Given the description of an element on the screen output the (x, y) to click on. 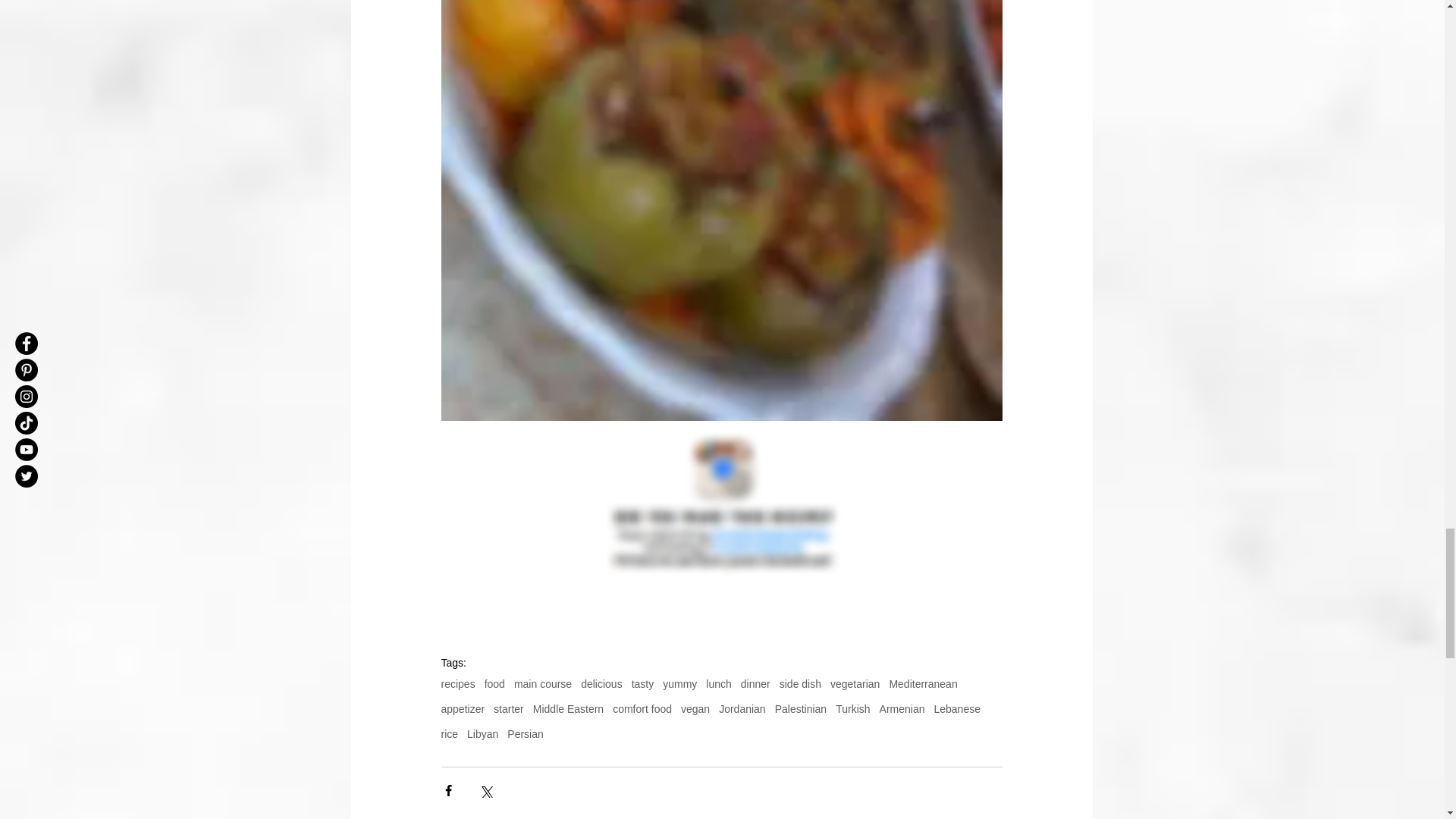
food (494, 684)
recipes (458, 684)
main course (542, 684)
delicious (600, 684)
